Given the description of an element on the screen output the (x, y) to click on. 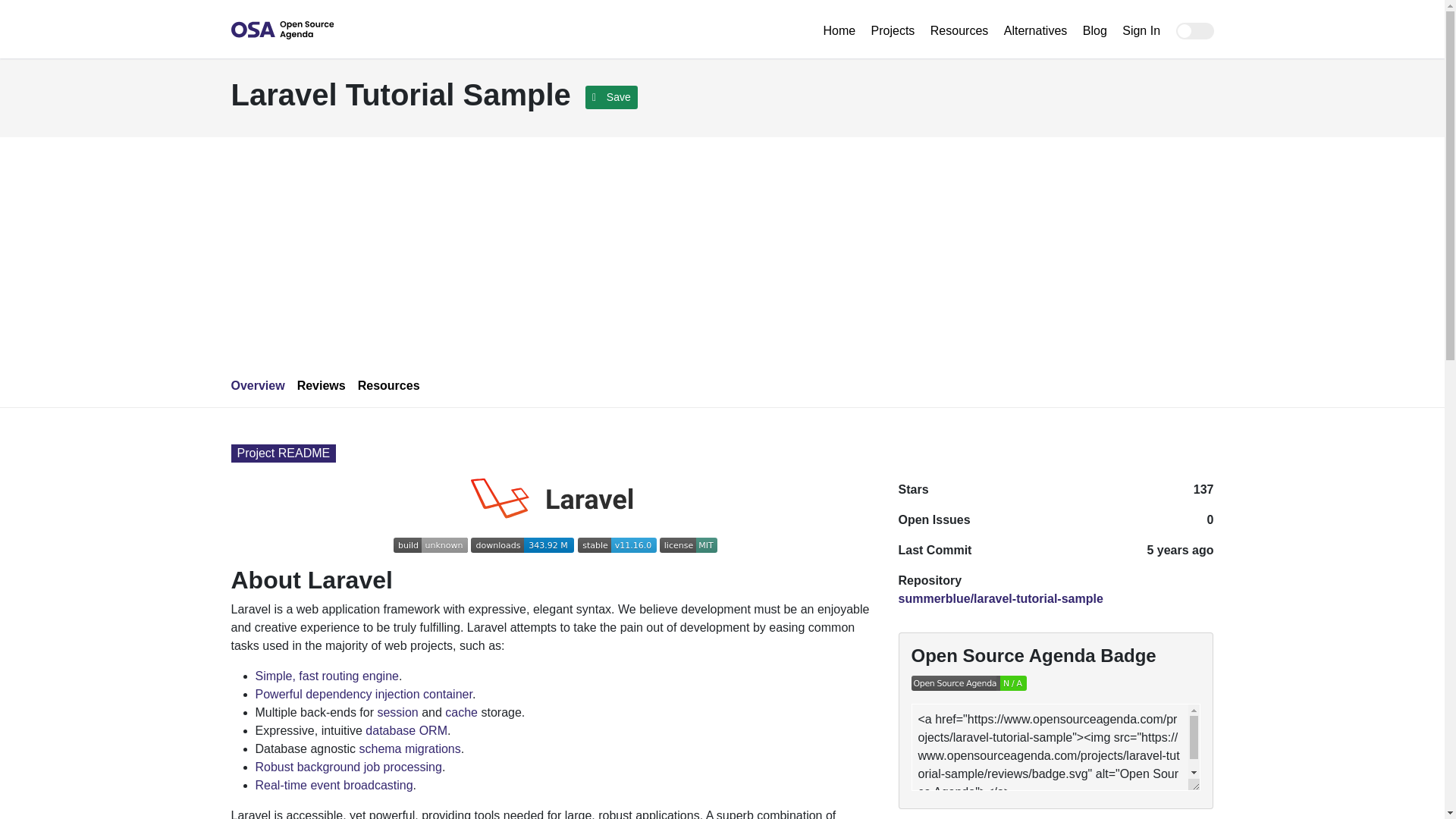
Resources (389, 385)
Home (840, 30)
Resources (960, 30)
session (397, 712)
Powerful dependency injection container (362, 694)
Blog (1096, 30)
Overview (256, 385)
Robust background job processing (347, 766)
cache (461, 712)
schema migrations (409, 748)
database ORM (405, 730)
Simple, fast routing engine (325, 675)
Alternatives (1037, 30)
Real-time event broadcasting (333, 784)
